Given the description of an element on the screen output the (x, y) to click on. 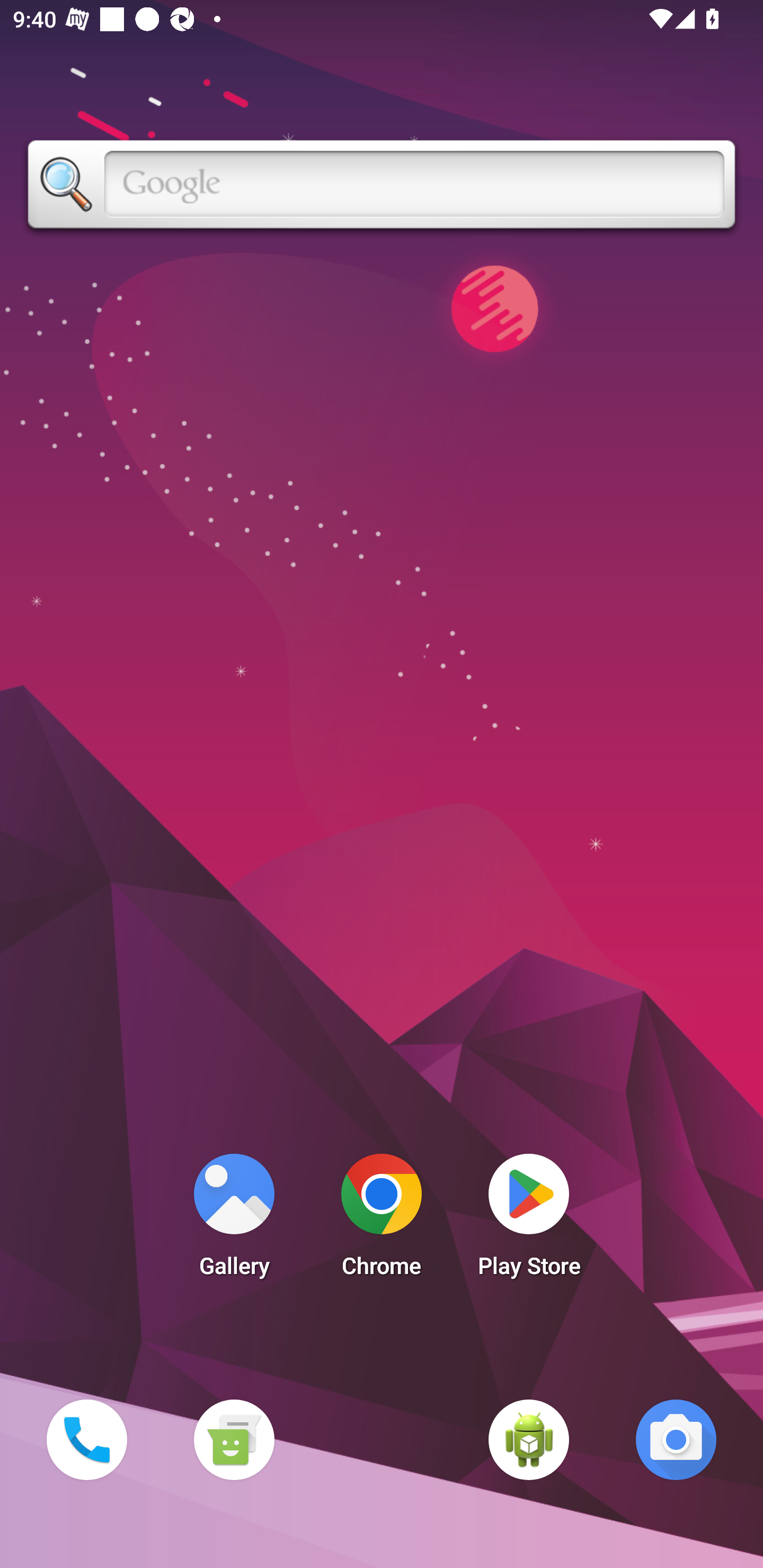
Gallery (233, 1220)
Chrome (381, 1220)
Play Store (528, 1220)
Phone (86, 1439)
Messaging (233, 1439)
WebView Browser Tester (528, 1439)
Camera (676, 1439)
